Given the description of an element on the screen output the (x, y) to click on. 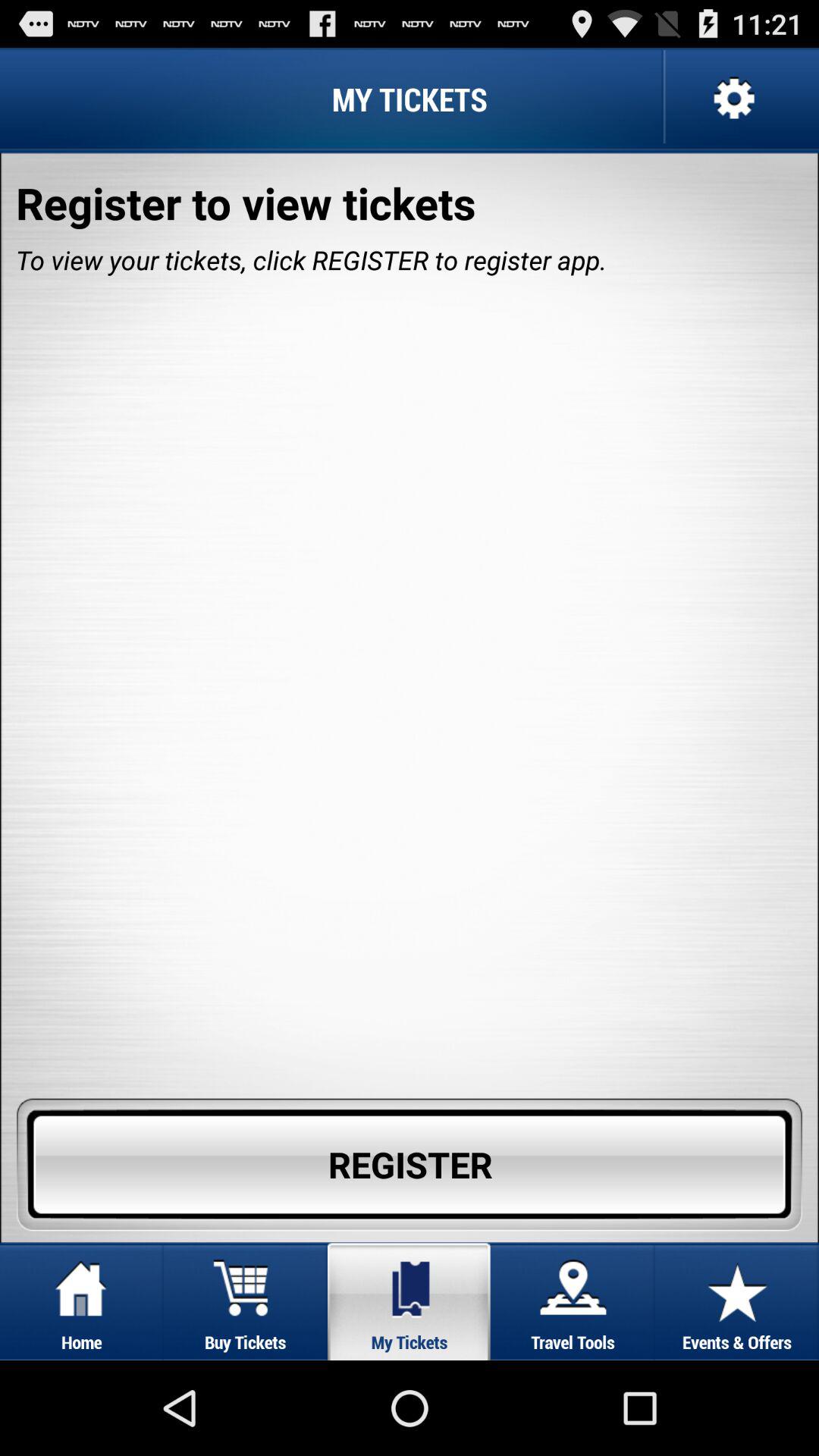
go to setting (732, 99)
